Given the description of an element on the screen output the (x, y) to click on. 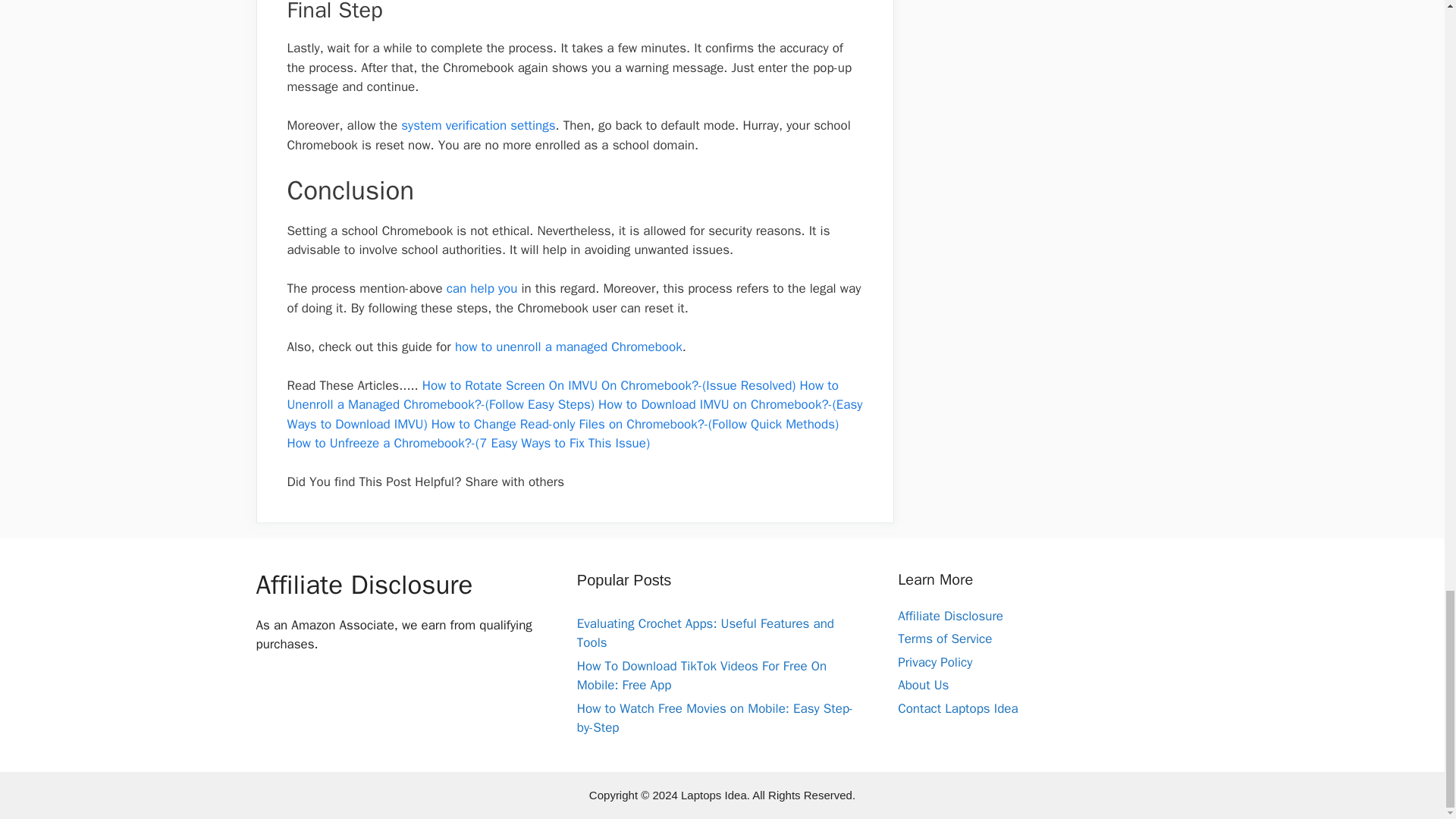
Affiliate Disclosure (950, 616)
How To Download TikTok Videos For Free On Mobile: Free App (701, 675)
can help you (482, 288)
Privacy Policy (935, 662)
Terms of Service (944, 638)
how to unenroll a managed Chromebook (568, 346)
How to Watch Free Movies on Mobile: Easy Step-by-Step (714, 718)
system verification settings (477, 125)
Evaluating Crochet Apps: Useful Features and Tools (705, 633)
About Us (923, 684)
